Given the description of an element on the screen output the (x, y) to click on. 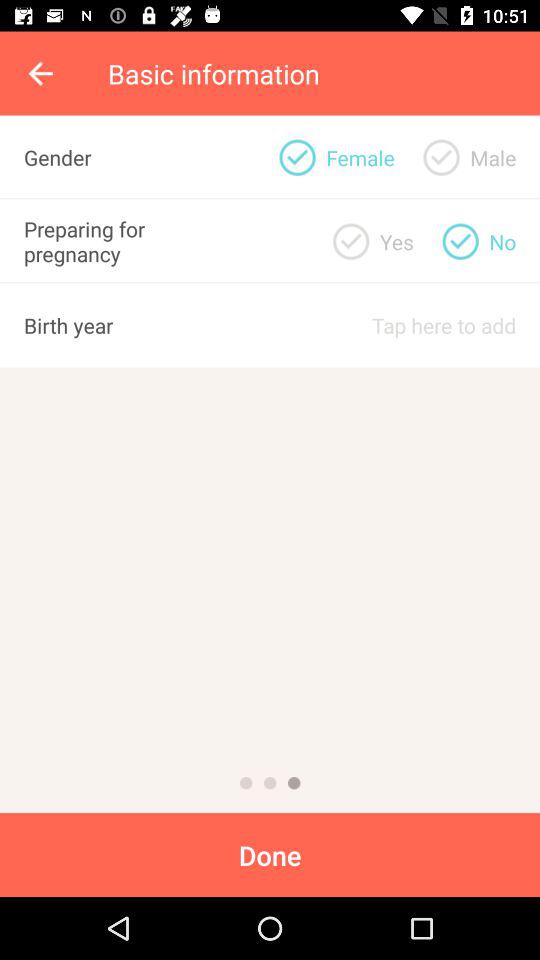
select your gender (441, 157)
